Given the description of an element on the screen output the (x, y) to click on. 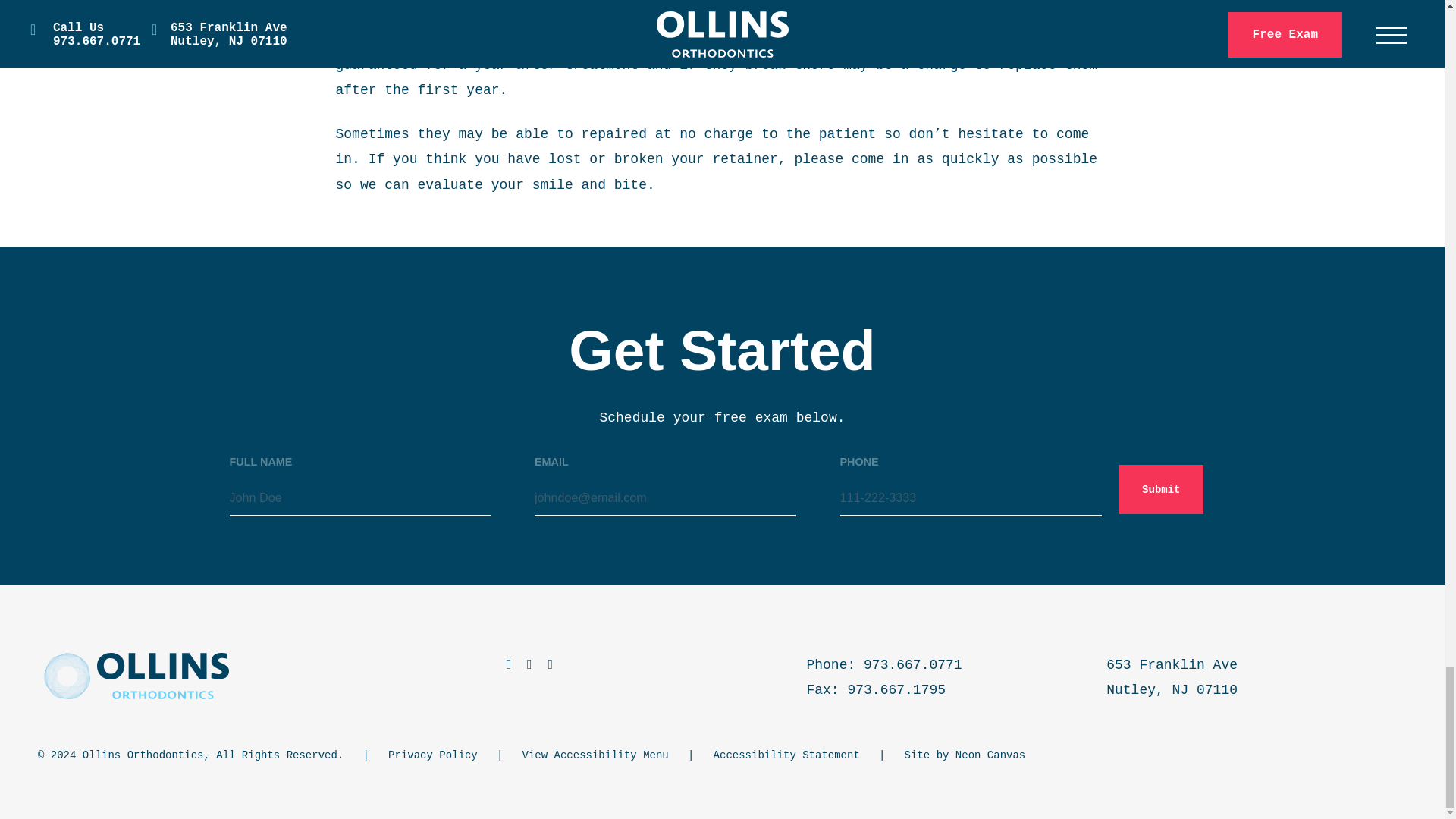
Submit (1160, 489)
